Given the description of an element on the screen output the (x, y) to click on. 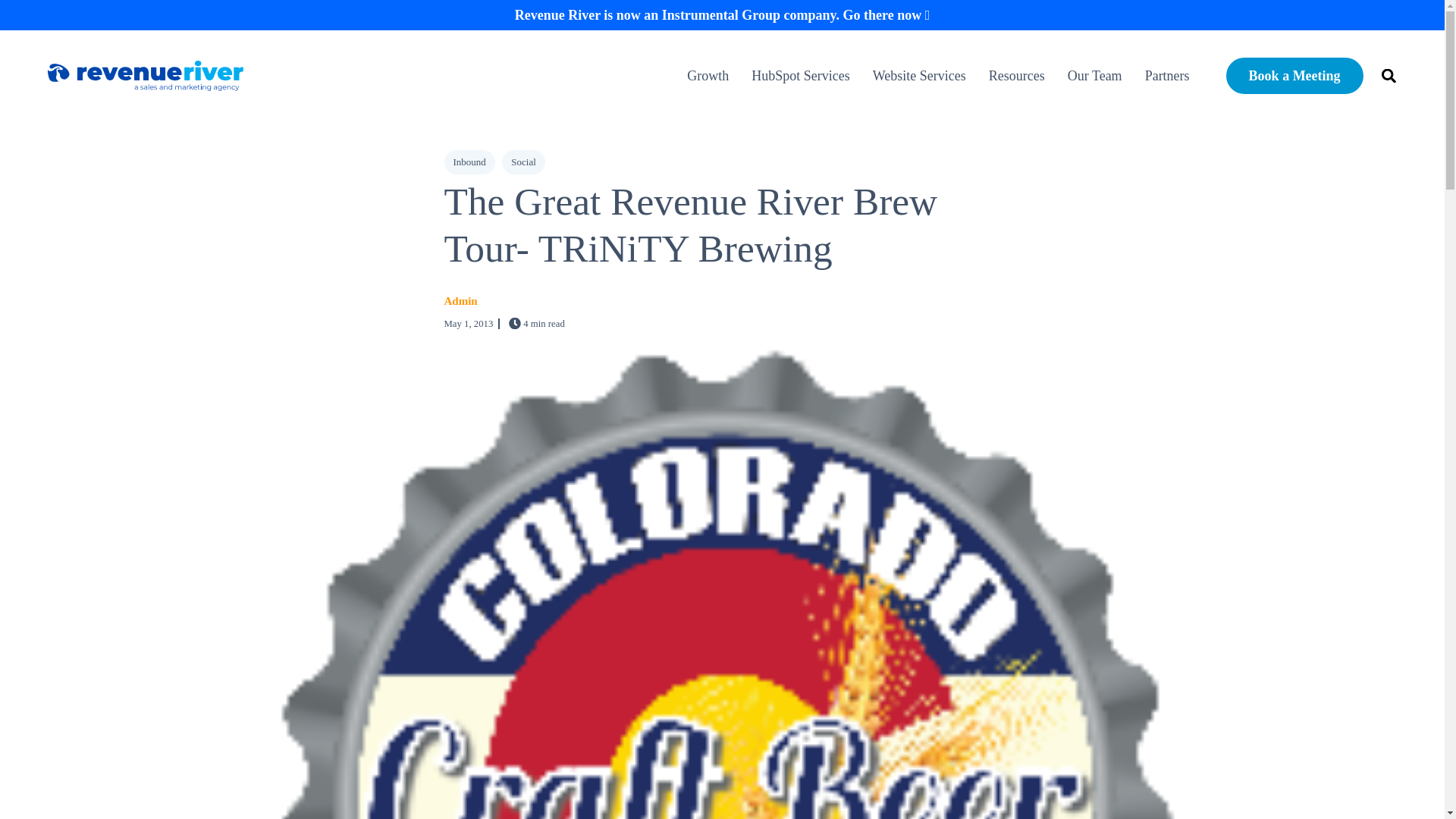
Growth (713, 75)
Admin (460, 301)
HubSpot Services (800, 75)
Our Team (1095, 75)
Website Services (918, 75)
Inbound (469, 161)
Book a Meeting (1293, 75)
Resources (1016, 75)
Partners (1161, 75)
Social (523, 161)
